Given the description of an element on the screen output the (x, y) to click on. 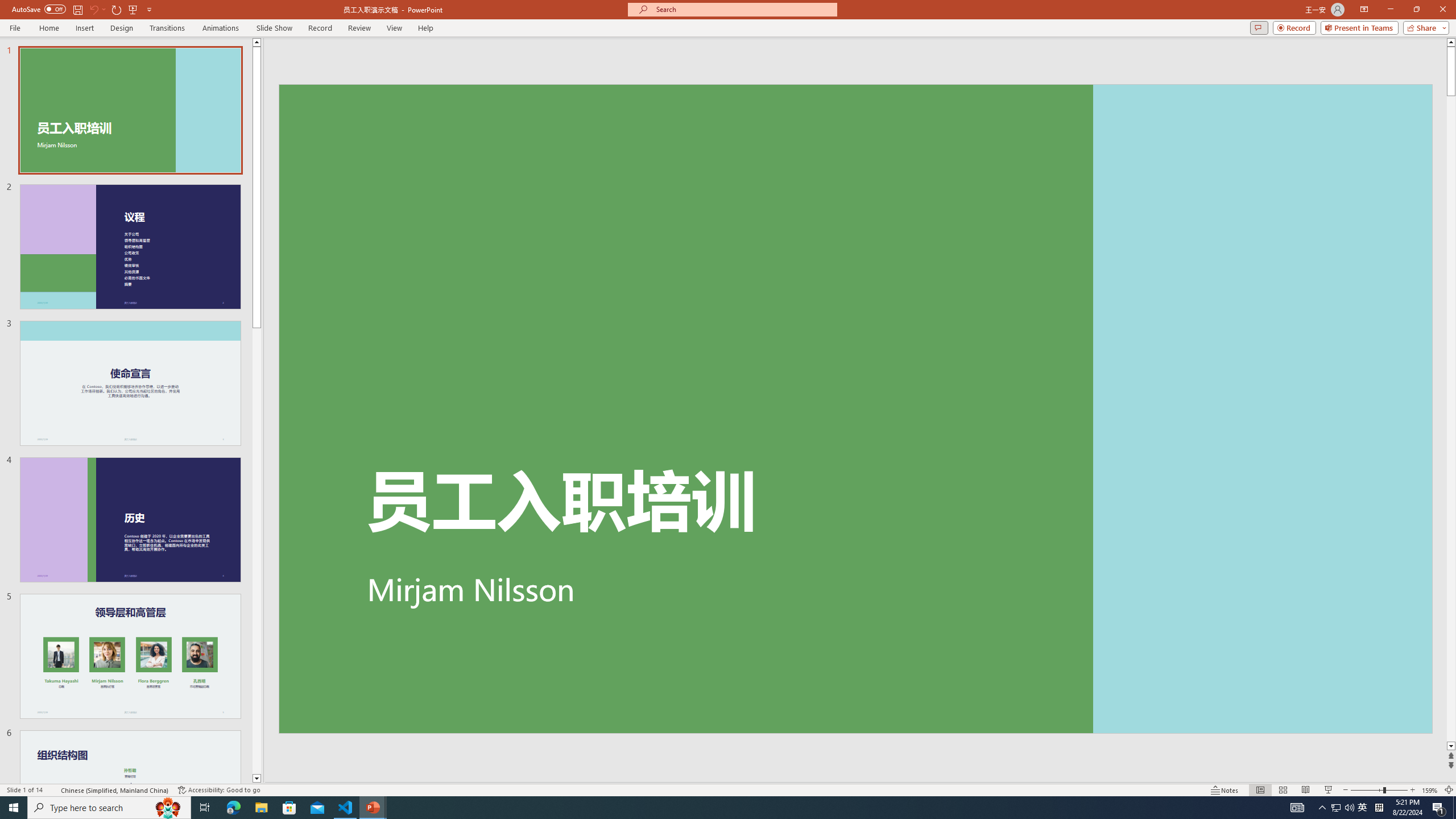
Spell Check  (52, 790)
Zoom 159% (1430, 790)
